Given the description of an element on the screen output the (x, y) to click on. 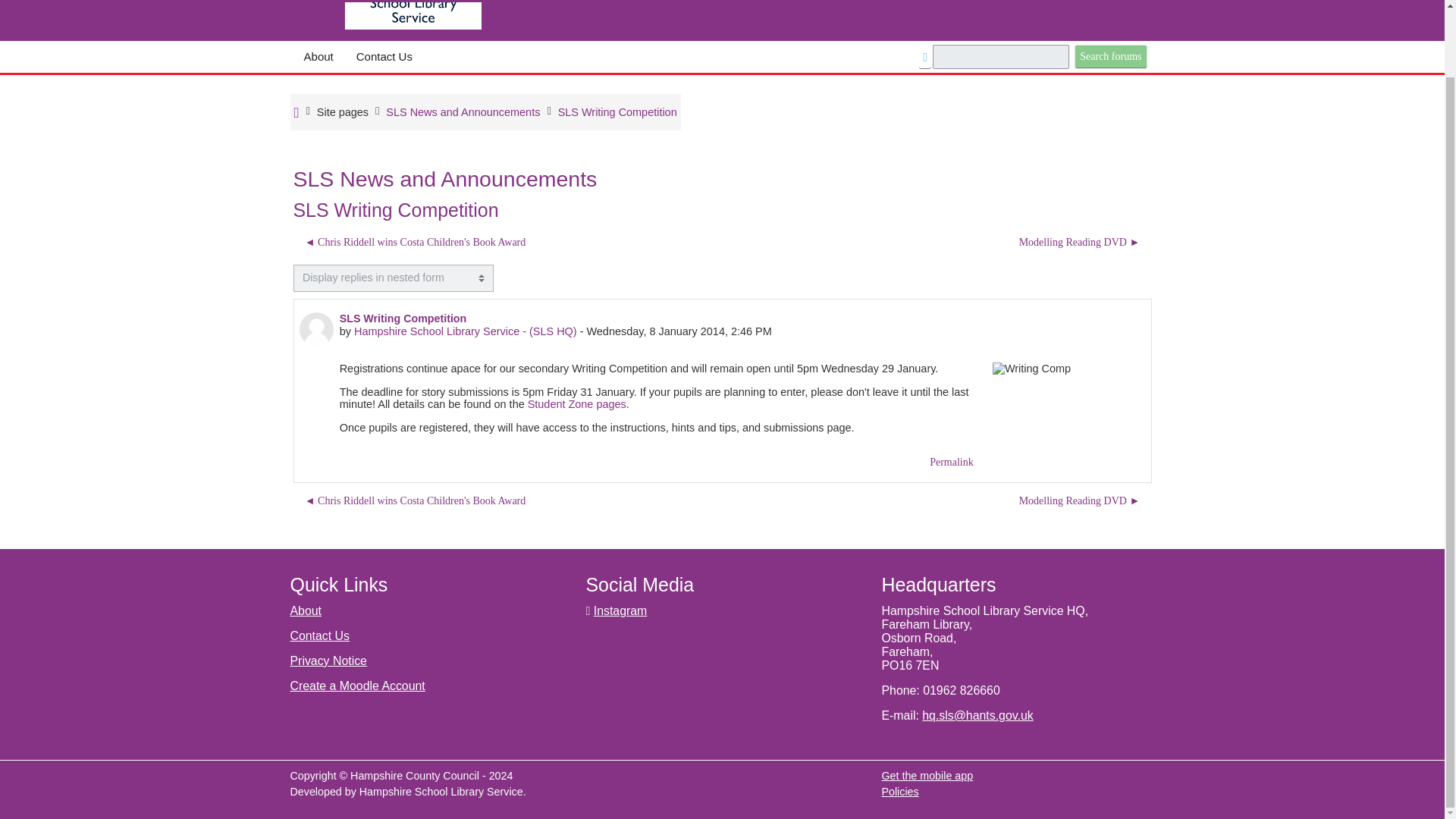
Contact Us (319, 635)
Search forums (1110, 56)
Get the mobile app (926, 775)
About (318, 56)
Forum (462, 111)
About (305, 610)
Student Zone pages (576, 404)
About (318, 56)
Help with Search (924, 57)
Create a Moodle Account (357, 685)
Permanent link to this post (951, 462)
Instagram (620, 610)
Privacy Notice (327, 660)
SLS News and Announcements (462, 111)
 Contact Us (384, 56)
